Given the description of an element on the screen output the (x, y) to click on. 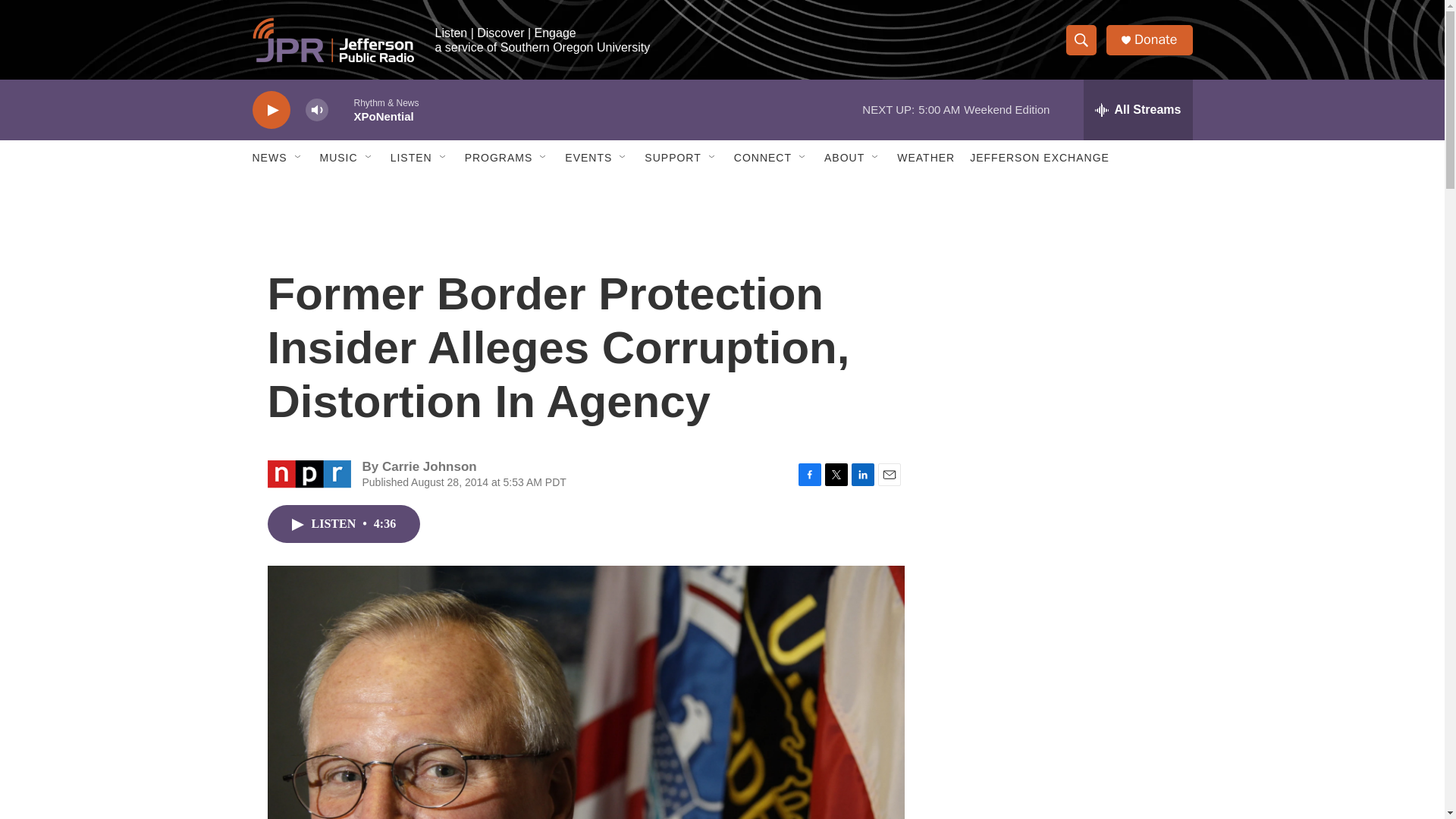
3rd party ad content (1062, 740)
3rd party ad content (1062, 536)
3rd party ad content (1062, 316)
